Given the description of an element on the screen output the (x, y) to click on. 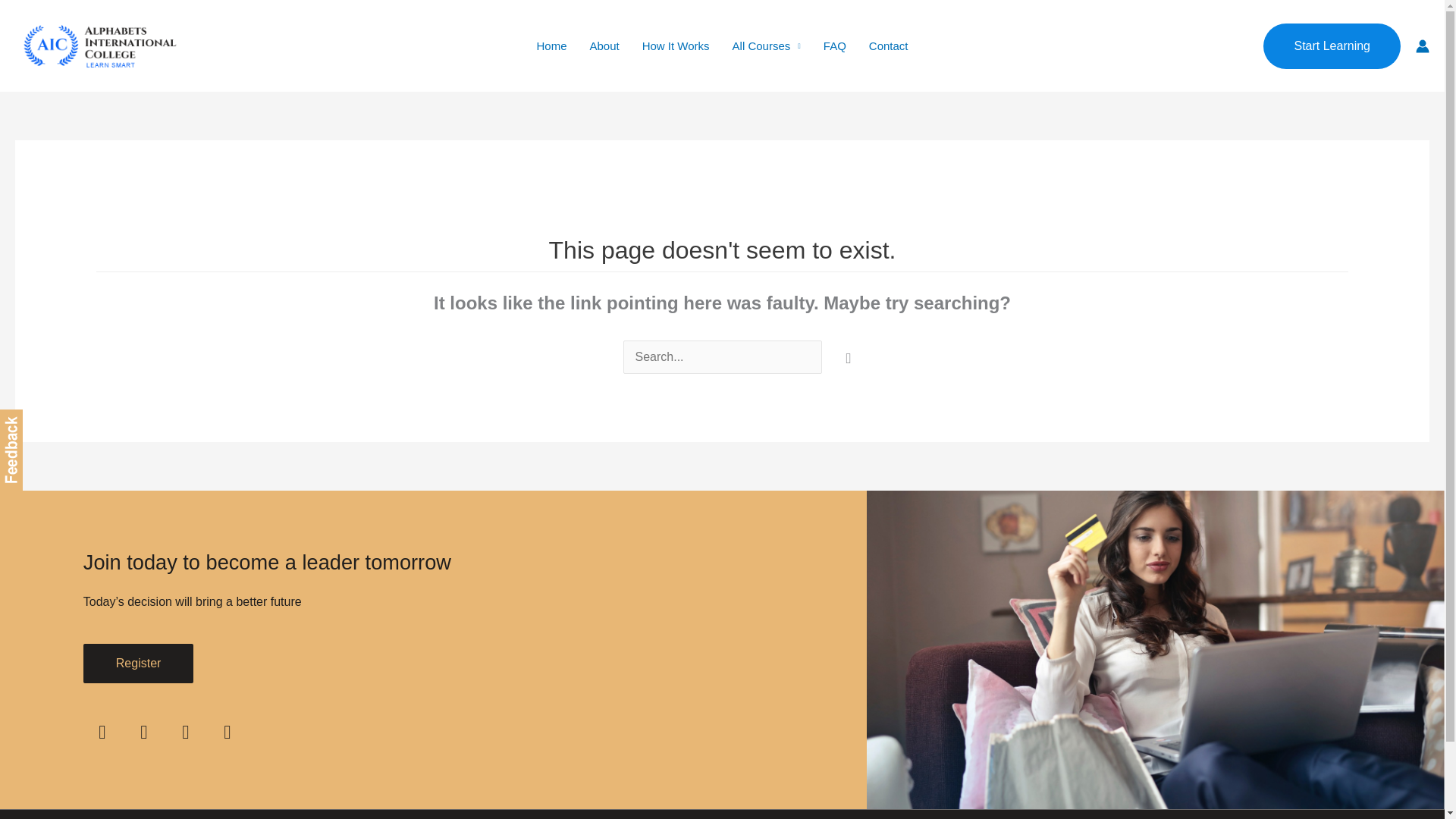
How It Works (675, 46)
Start Learning (1331, 45)
All Courses (766, 46)
Contact (888, 46)
Youtube (101, 732)
About (604, 46)
FAQ (834, 46)
Home (551, 46)
Register (137, 663)
